Given the description of an element on the screen output the (x, y) to click on. 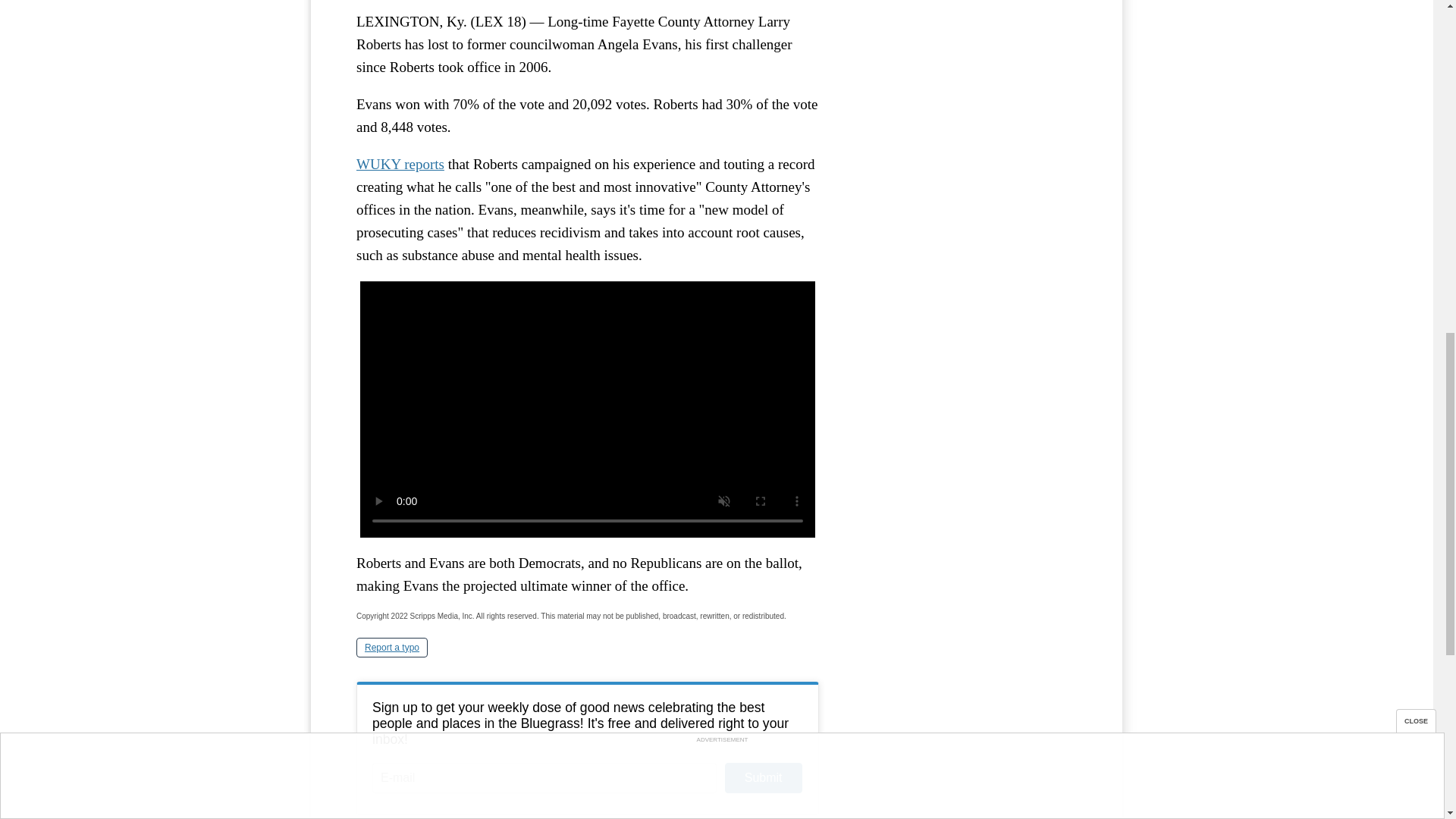
Submit (763, 777)
3rd party ad content (962, 60)
